Given the description of an element on the screen output the (x, y) to click on. 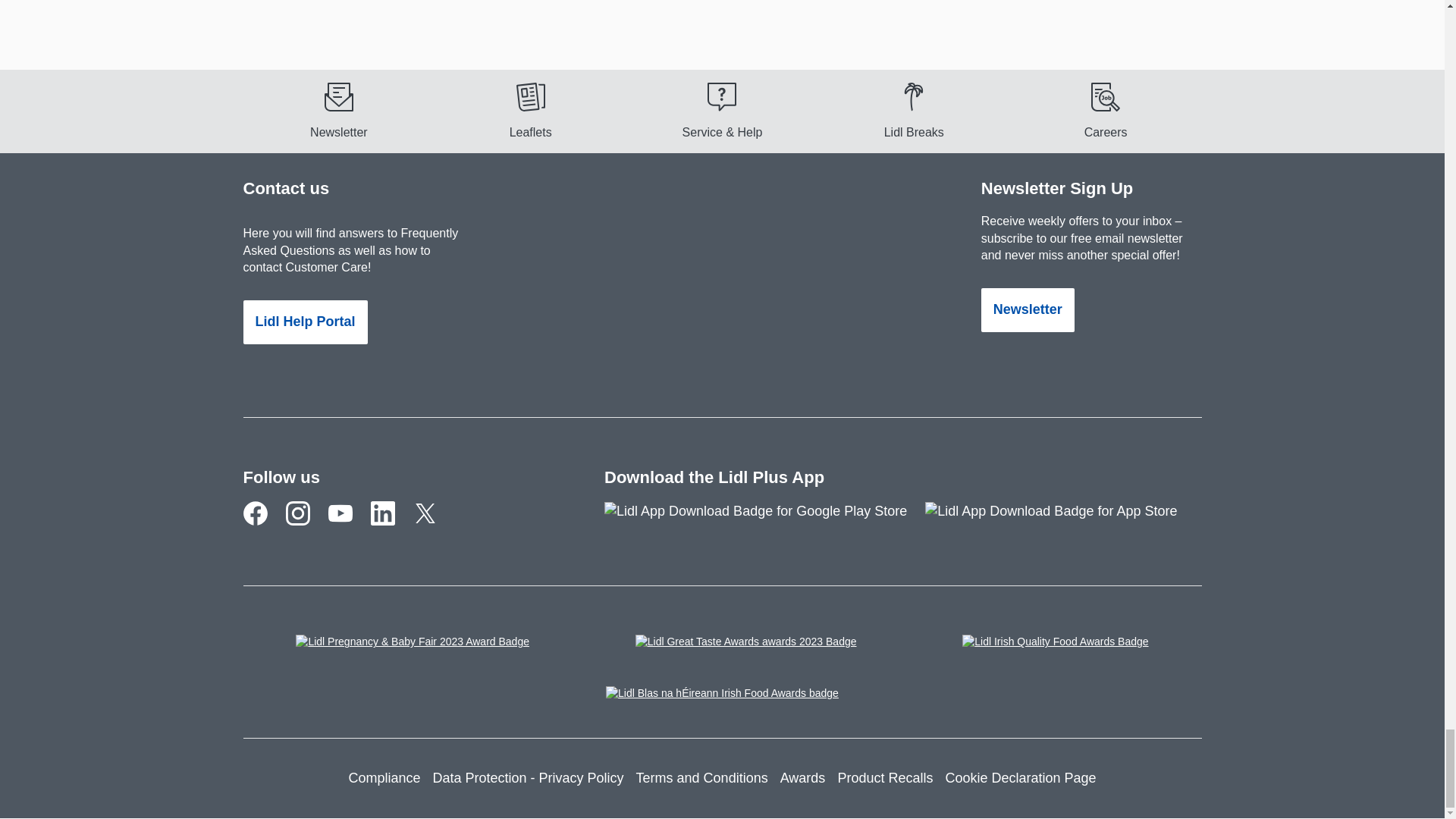
Welcome to Lidl Breaks! (914, 109)
Great Taste Awards awards 2023! (746, 647)
Download Lidl Plus App for iOS! (1059, 519)
Discover new offers every week! (529, 109)
X usually known as Twitter! (433, 524)
Become a Lidl Insider now! (338, 109)
Our little hearts are waiting for you! (306, 524)
Download Lidl Plus App for Android! (764, 519)
More than just jobs, learn what's important about Lidl! (390, 524)
Irish Quality Food Awards! (1055, 647)
Follow our stories on Facebook! (264, 524)
Lidl as an employer, a great opportunity! (1106, 109)
